Given the description of an element on the screen output the (x, y) to click on. 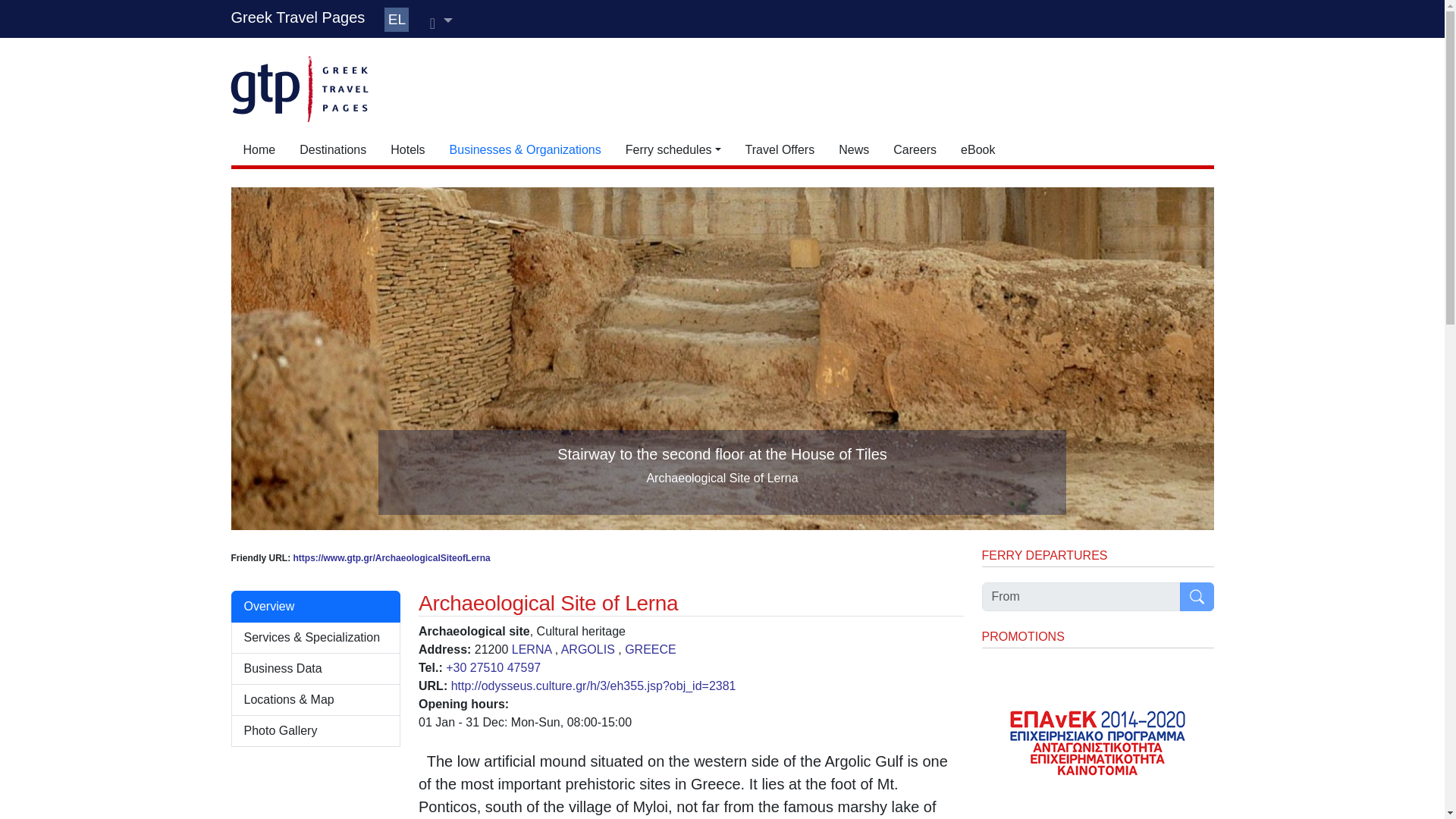
Home (258, 150)
Ferry schedules (672, 150)
EL (396, 19)
User menu (440, 21)
Hotels (407, 150)
3rd party ad content (772, 87)
Destinations (332, 150)
Greek Travel Pages (297, 16)
